Given the description of an element on the screen output the (x, y) to click on. 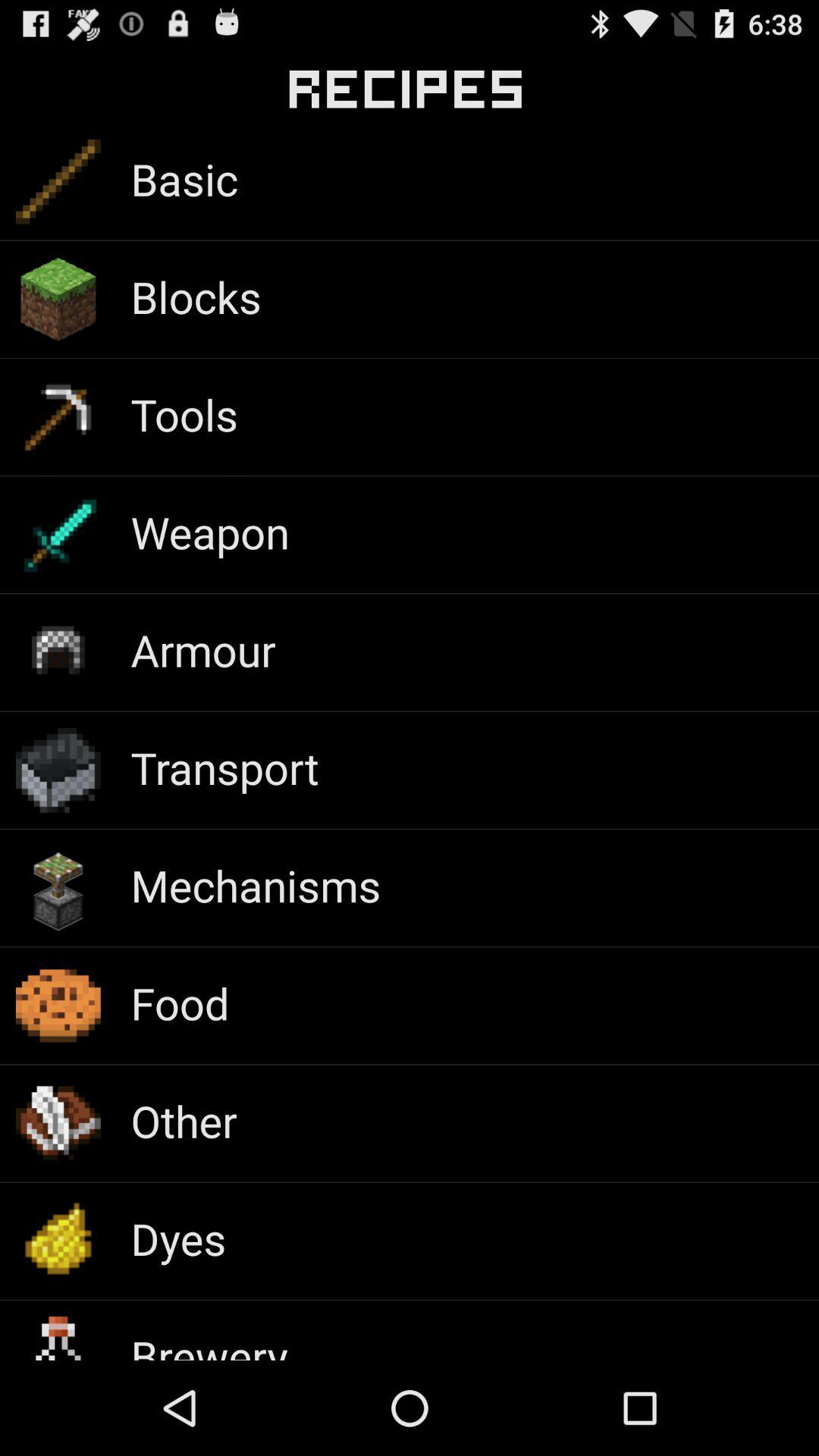
open item below the basic item (195, 296)
